Given the description of an element on the screen output the (x, y) to click on. 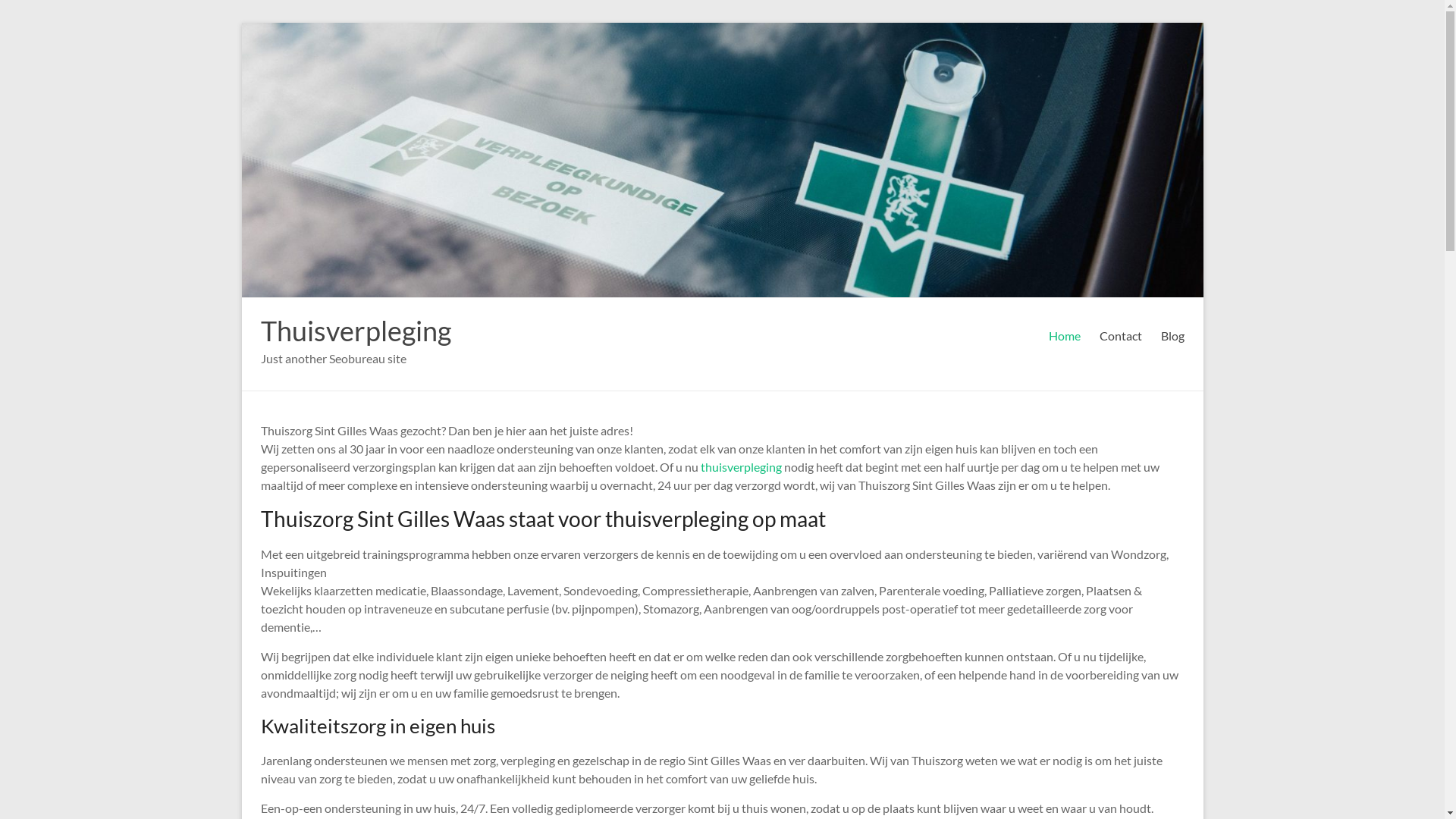
Ga naar inhoud Element type: text (241, 21)
Thuisverpleging Element type: text (355, 330)
Contact Element type: text (1120, 335)
thuisverpleging Element type: text (740, 466)
Home Element type: text (1063, 335)
Blog Element type: text (1171, 335)
